Given the description of an element on the screen output the (x, y) to click on. 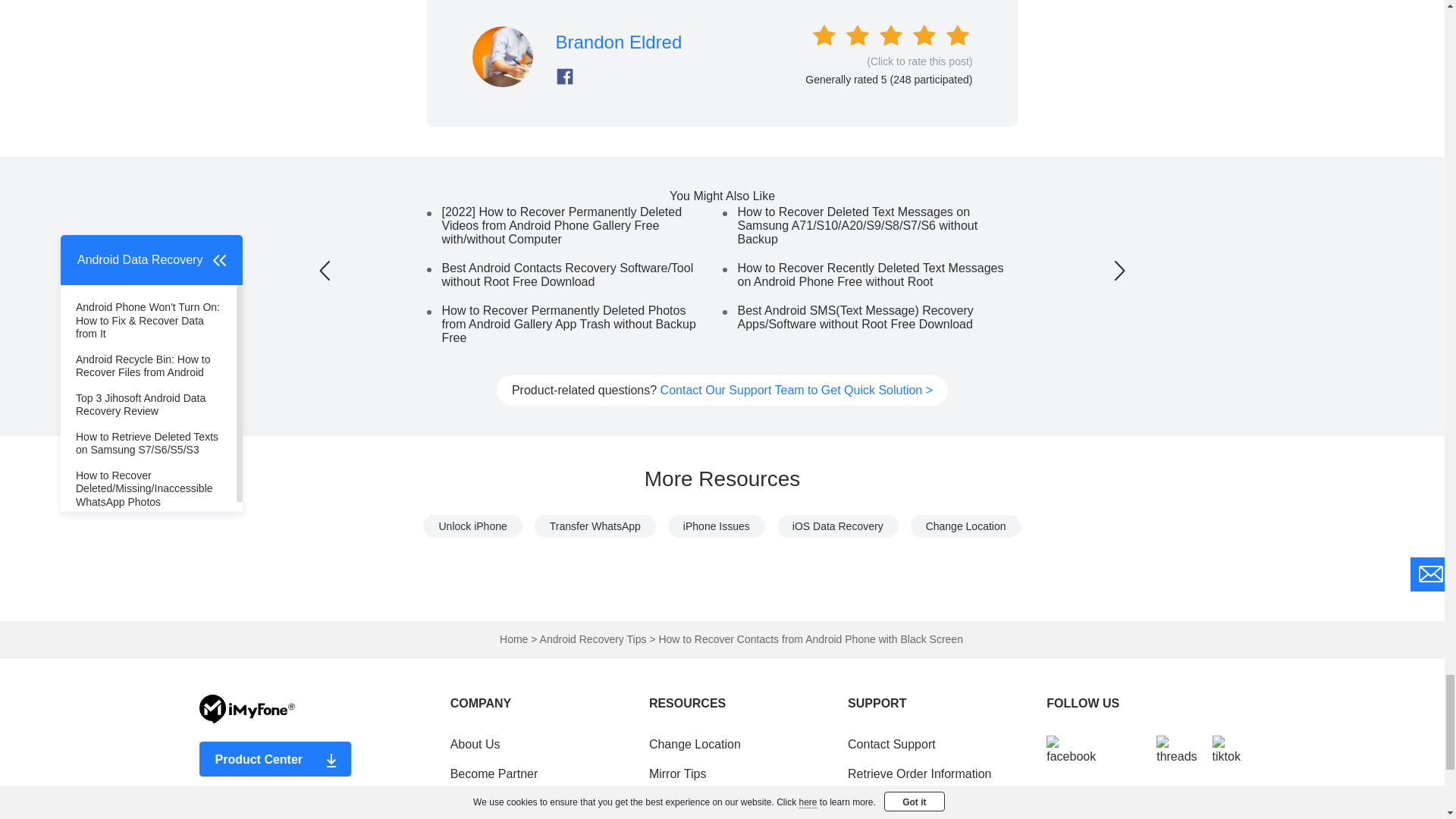
tiktok (1226, 750)
facebook (1071, 750)
threads (1176, 750)
